Given the description of an element on the screen output the (x, y) to click on. 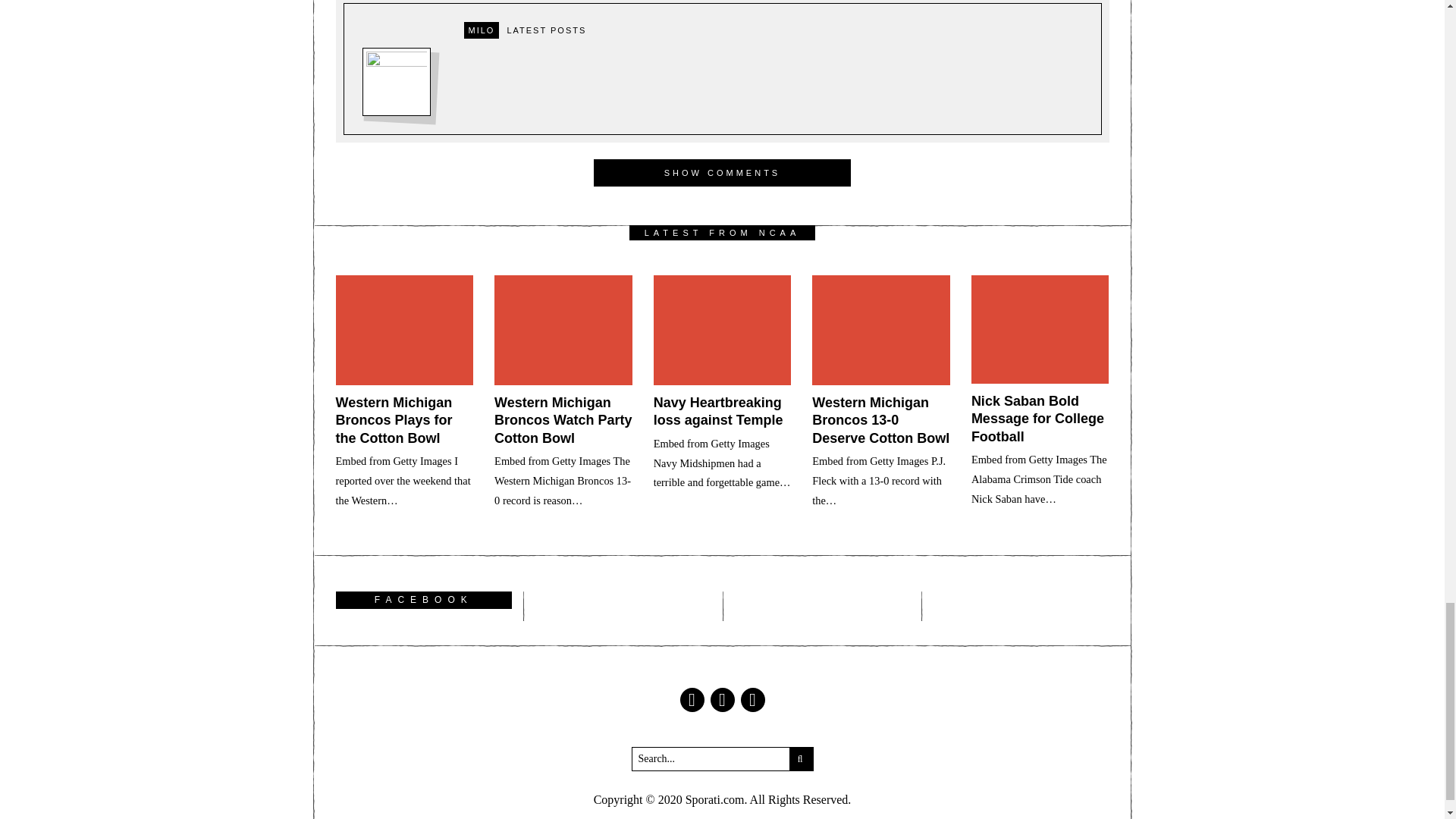
Twitter (721, 699)
Pinterest (751, 699)
Facebook (691, 699)
